Given the description of an element on the screen output the (x, y) to click on. 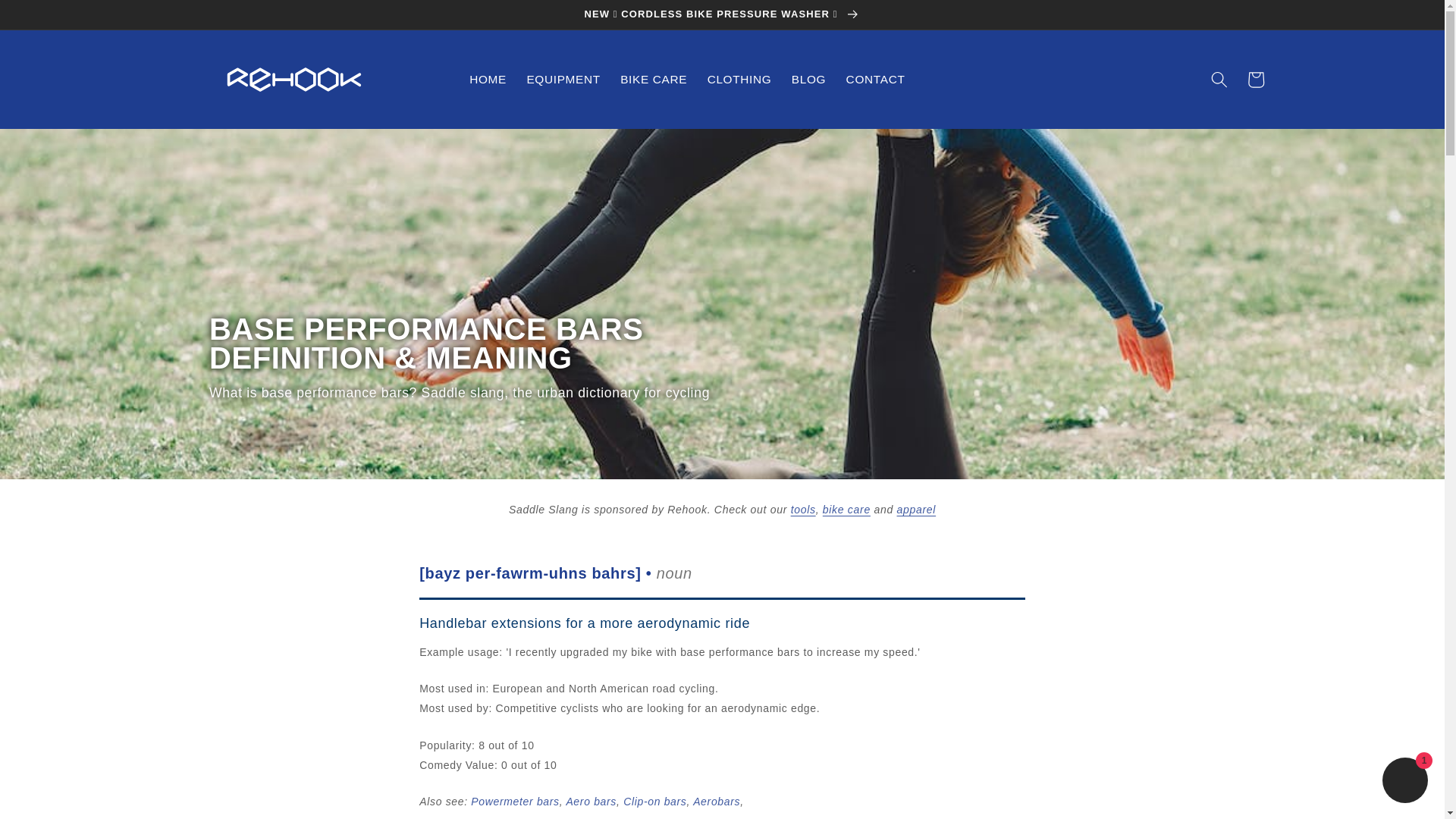
Clip-on bars (654, 801)
Aerobars (716, 801)
Revive Your Ride with Premium Bike Care Kits (846, 509)
HOME (488, 79)
BIKE CARE (653, 79)
Cycling Equipment (802, 509)
Skip to content (50, 19)
Cart (1255, 79)
apparel (916, 509)
bike care (846, 509)
CONTACT (874, 79)
Shopify online store chat (1404, 781)
Cycling Apparel (916, 509)
BLOG (808, 79)
tools (802, 509)
